Given the description of an element on the screen output the (x, y) to click on. 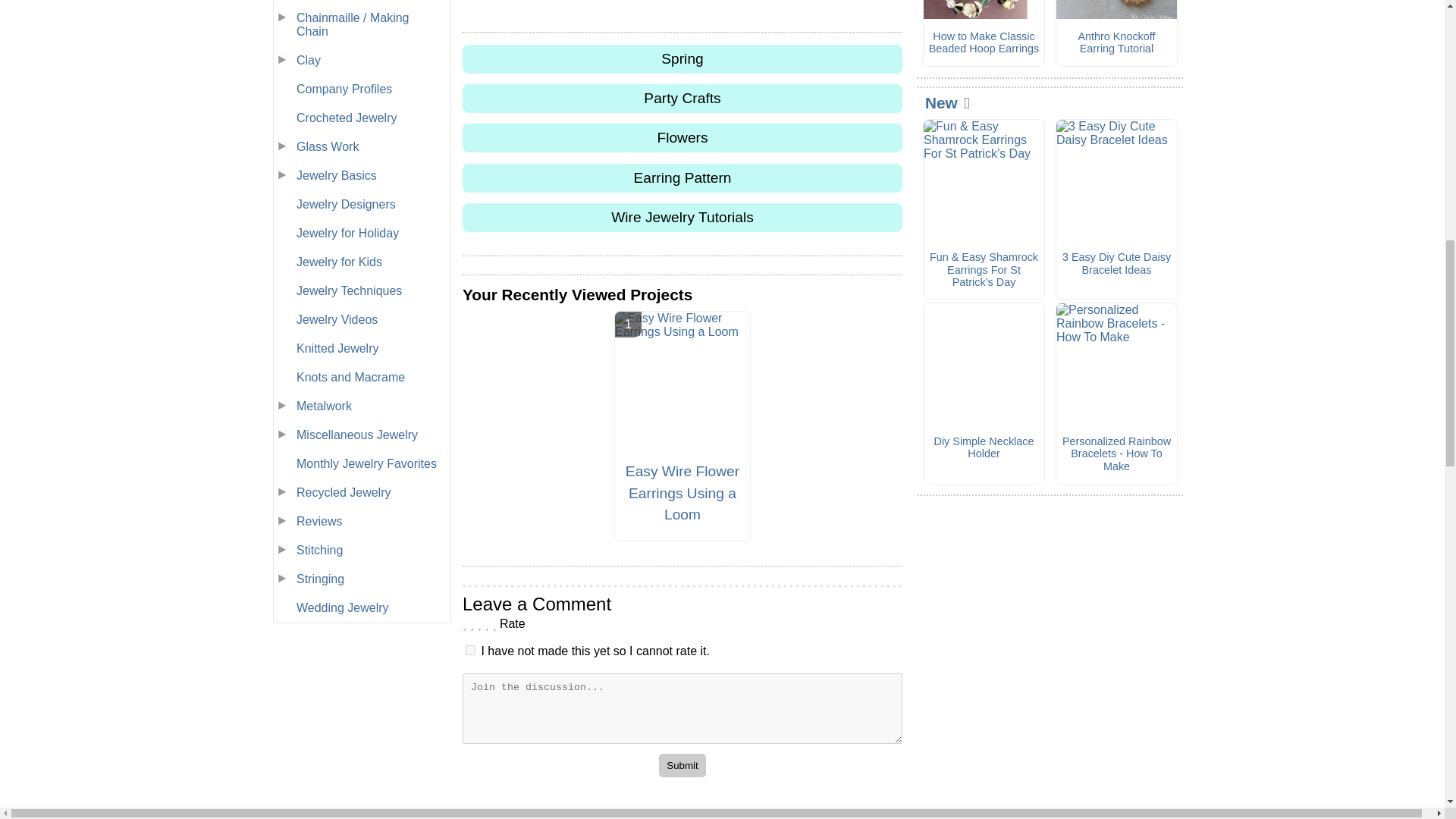
1 (470, 650)
Submit (681, 765)
